Given the description of an element on the screen output the (x, y) to click on. 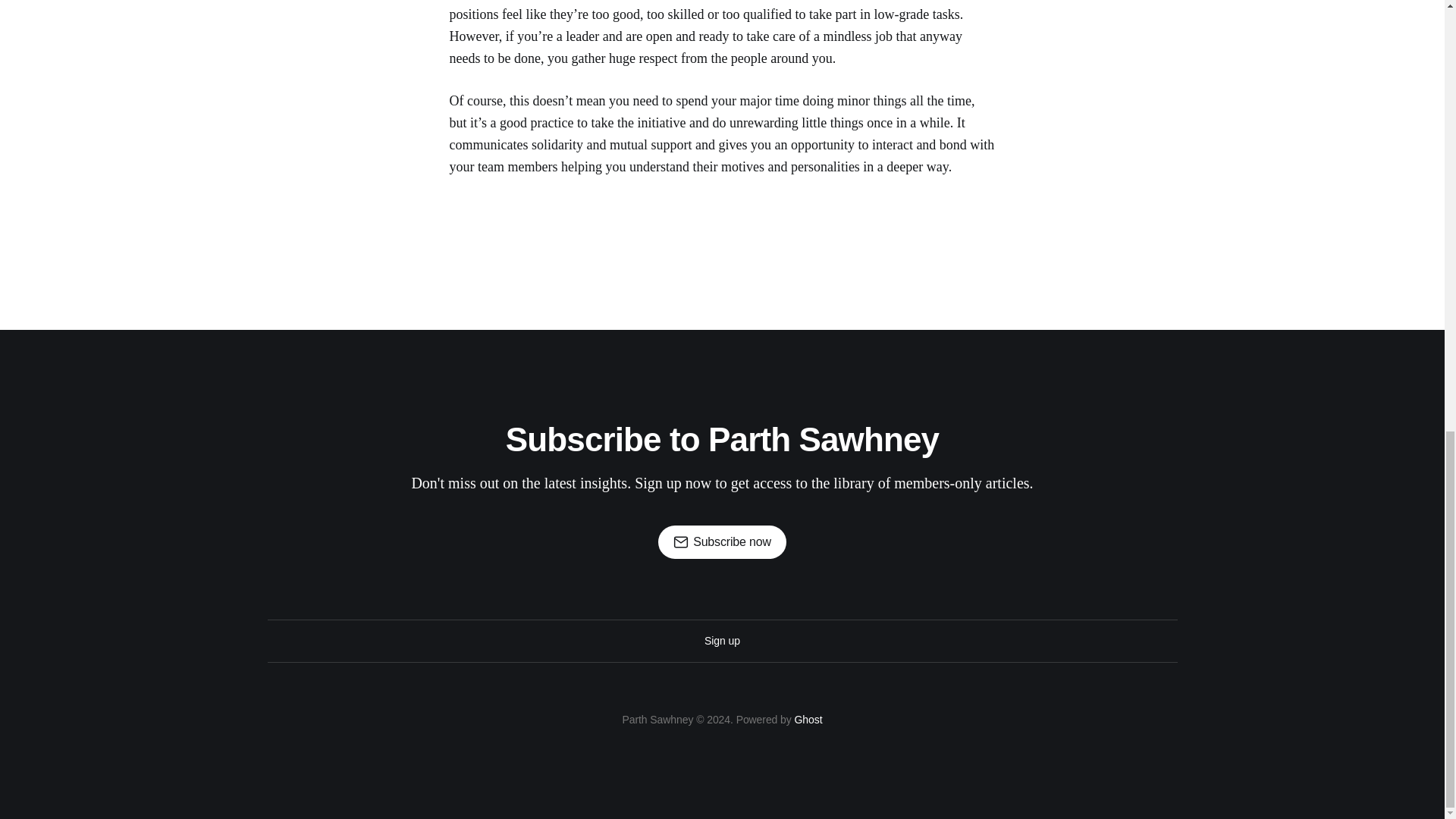
Ghost (808, 719)
Sign up (721, 640)
Subscribe now (722, 541)
